Given the description of an element on the screen output the (x, y) to click on. 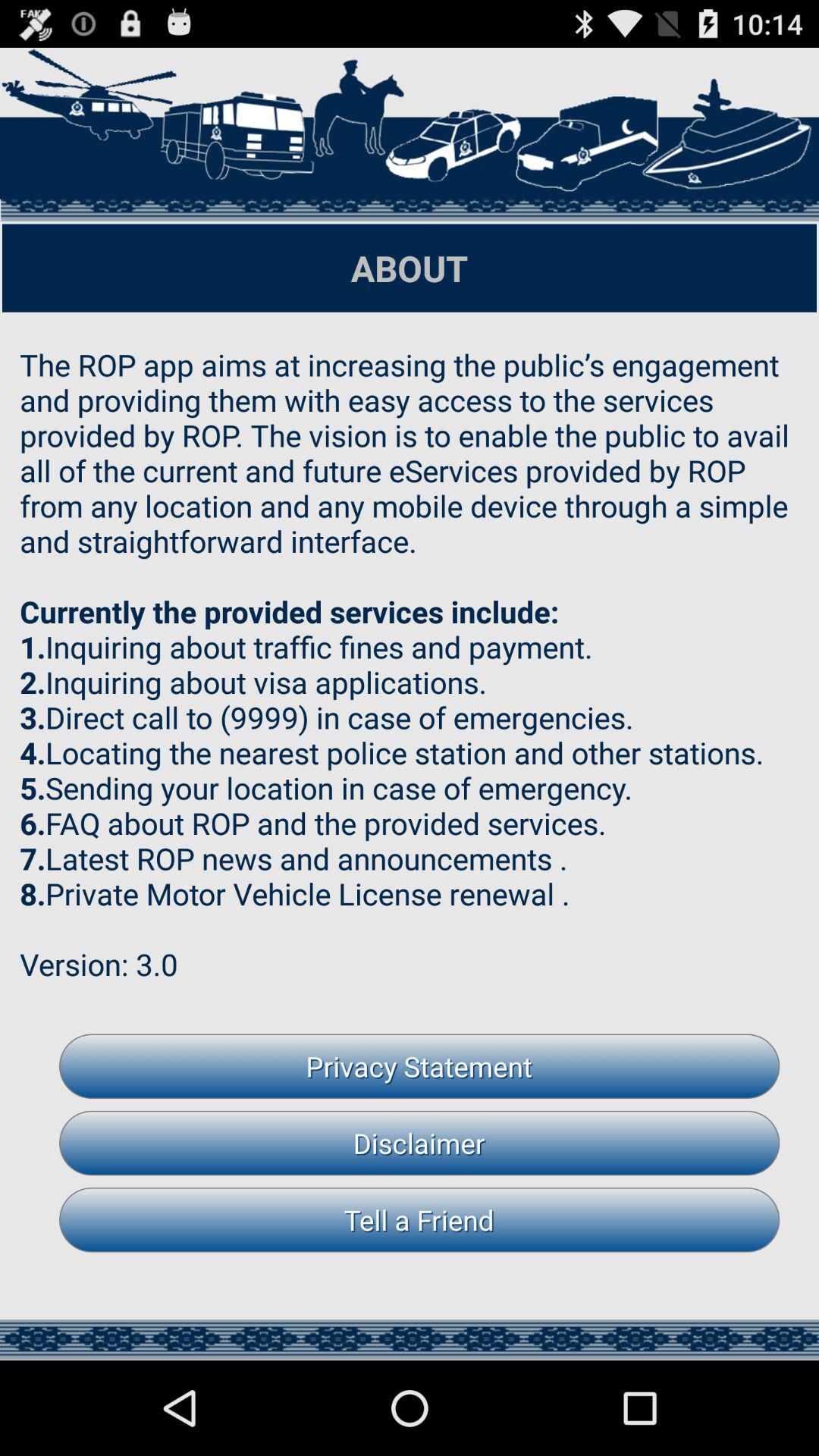
turn on icon below the disclaimer button (419, 1219)
